Given the description of an element on the screen output the (x, y) to click on. 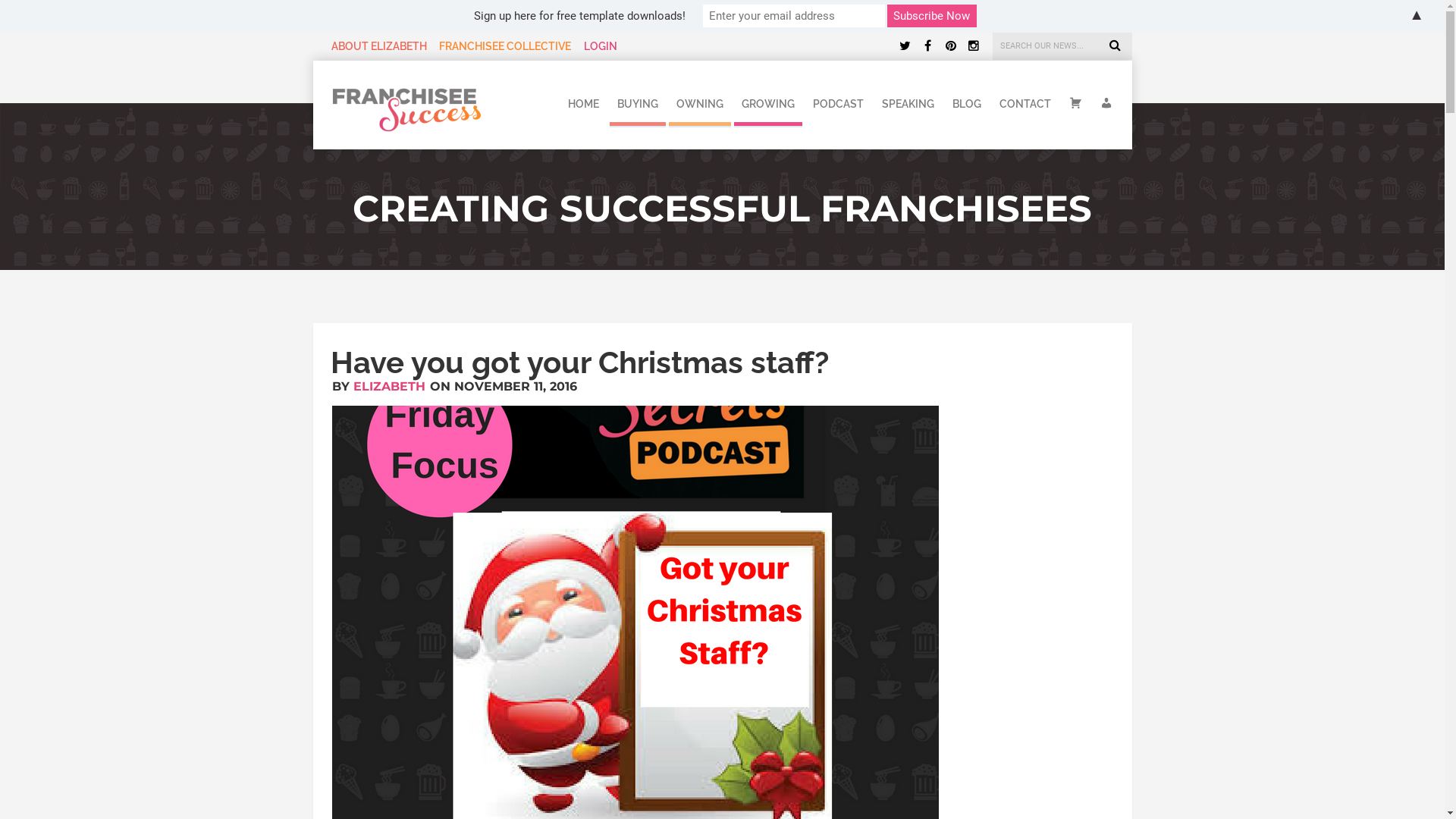
ABOUT ELIZABETH Element type: text (378, 46)
MY ACCOUNT Element type: text (1102, 100)
PODCAST Element type: text (838, 100)
Have you got your Christmas staff? Element type: text (579, 361)
CART Element type: text (1075, 100)
CONTACT Element type: text (1024, 100)
LOGIN Element type: text (600, 46)
Pinterest Element type: hover (949, 45)
Twitter Element type: hover (904, 45)
BY ELIZABETH Element type: text (378, 386)
Facebook Element type: hover (927, 45)
Subscribe Now Element type: text (931, 15)
SPEAKING Element type: text (907, 100)
FRANCHISEE COLLECTIVE Element type: text (505, 46)
ON NOVEMBER 11, 2016 Element type: text (502, 386)
BUYING Element type: text (637, 100)
BLOG Element type: text (966, 100)
GROWING Element type: text (768, 100)
OWNING Element type: text (699, 100)
HOME Element type: text (582, 100)
Instagram Element type: hover (972, 45)
